Given the description of an element on the screen output the (x, y) to click on. 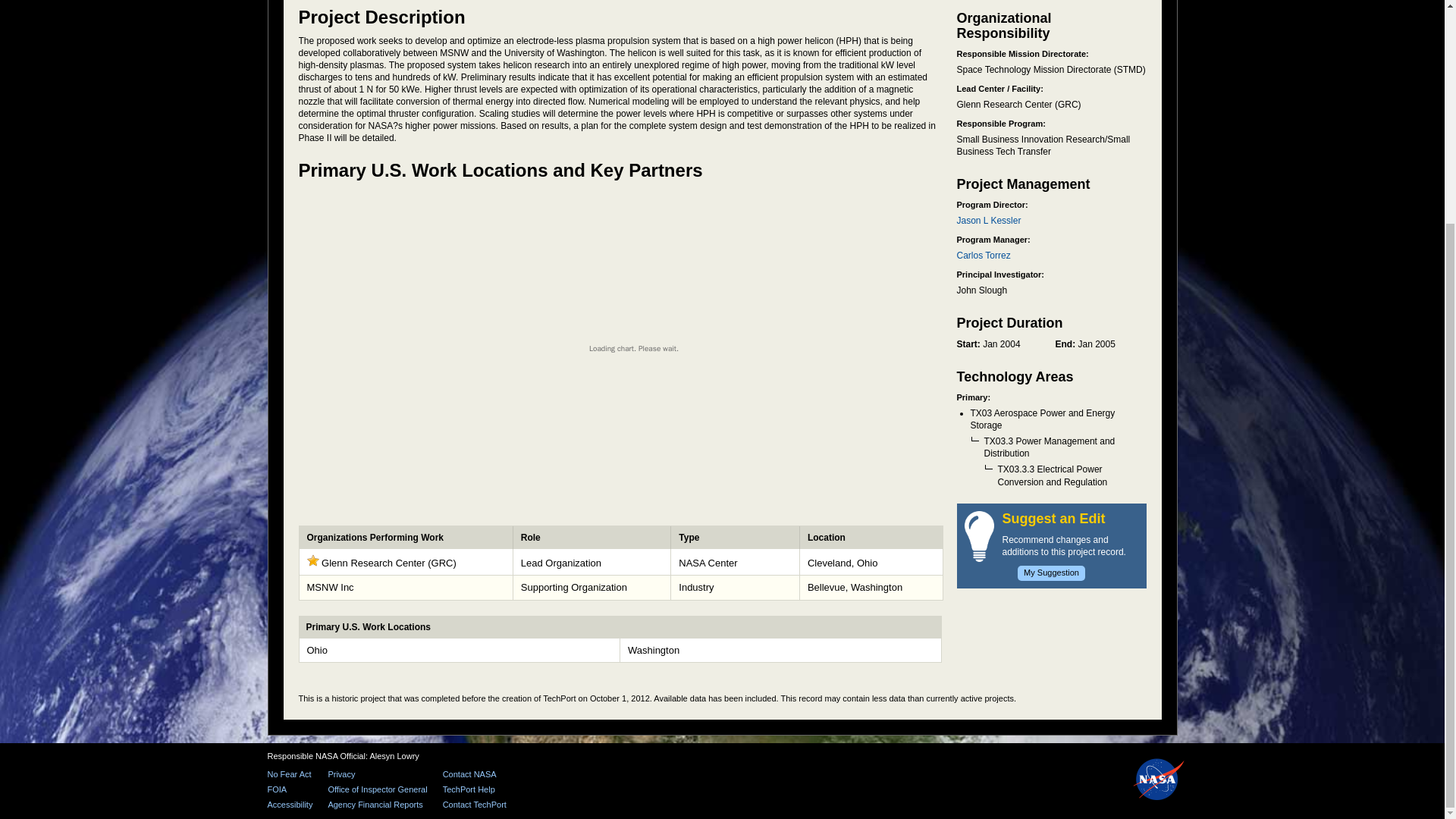
Contact NASA (474, 774)
Jason L Kessler (989, 220)
Office of Inspector General (376, 789)
My Suggestion (1050, 572)
Privacy (376, 774)
FOIA (289, 789)
Agency Financial Reports (376, 804)
Accessibility (289, 804)
No Fear Act (289, 774)
Contact TechPort (474, 804)
TechPort Help (474, 789)
Carlos Torrez (983, 255)
